Given the description of an element on the screen output the (x, y) to click on. 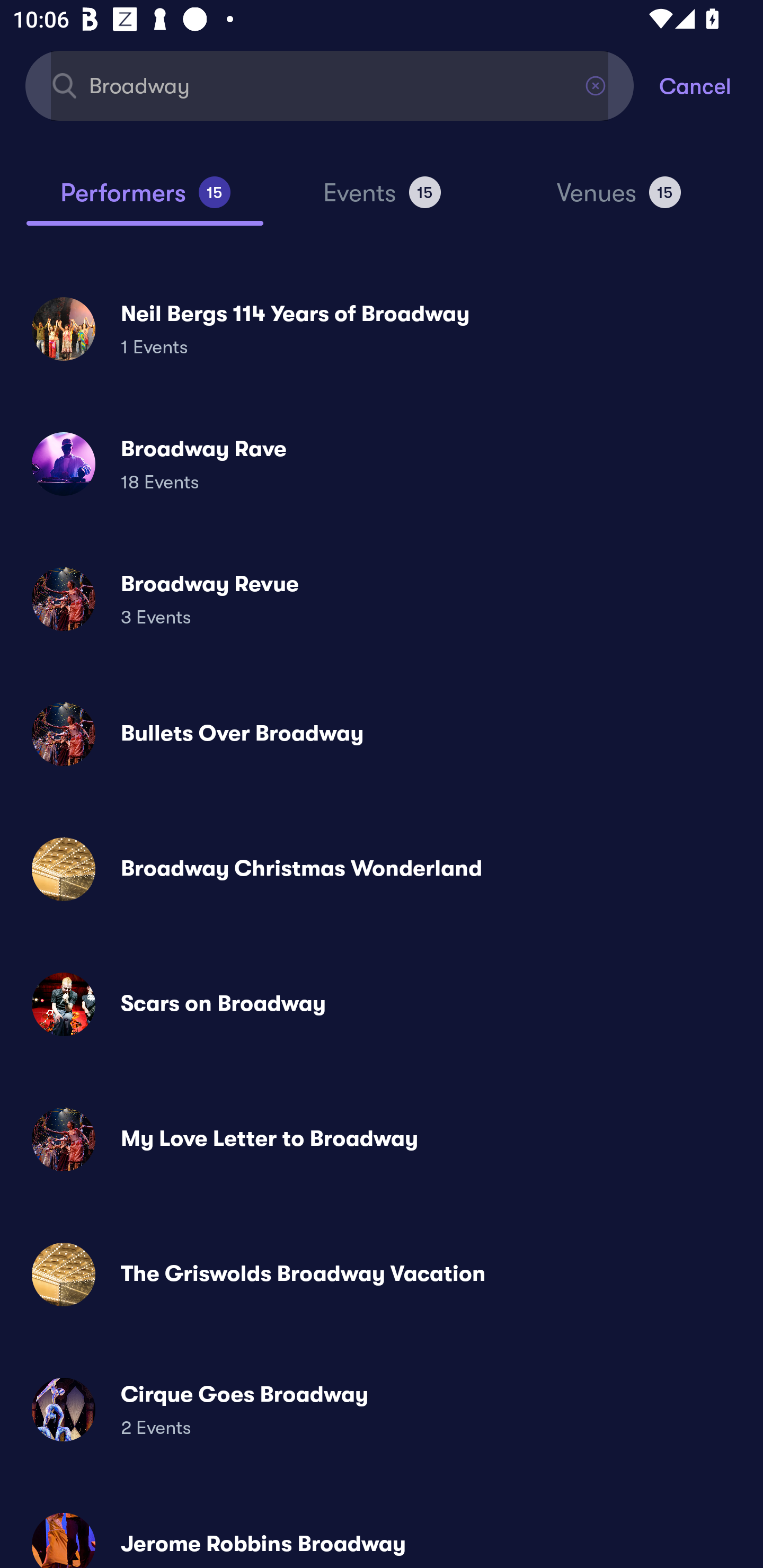
Broadway Find (329, 85)
Broadway Find (329, 85)
Cancel (711, 85)
Performers 15 (144, 200)
Events 15 (381, 200)
Venues 15 (618, 200)
Neil Bergs 114 Years of Broadway 1 Events (381, 328)
Broadway Rave 18 Events (381, 464)
Broadway Revue 3 Events (381, 598)
Bullets Over Broadway (381, 734)
Broadway Christmas Wonderland (381, 869)
Scars on Broadway (381, 1004)
My Love Letter to Broadway (381, 1138)
The Griswolds Broadway Vacation (381, 1273)
Cirque Goes Broadway 2 Events (381, 1409)
Jerome Robbins Broadway (381, 1532)
